Given the description of an element on the screen output the (x, y) to click on. 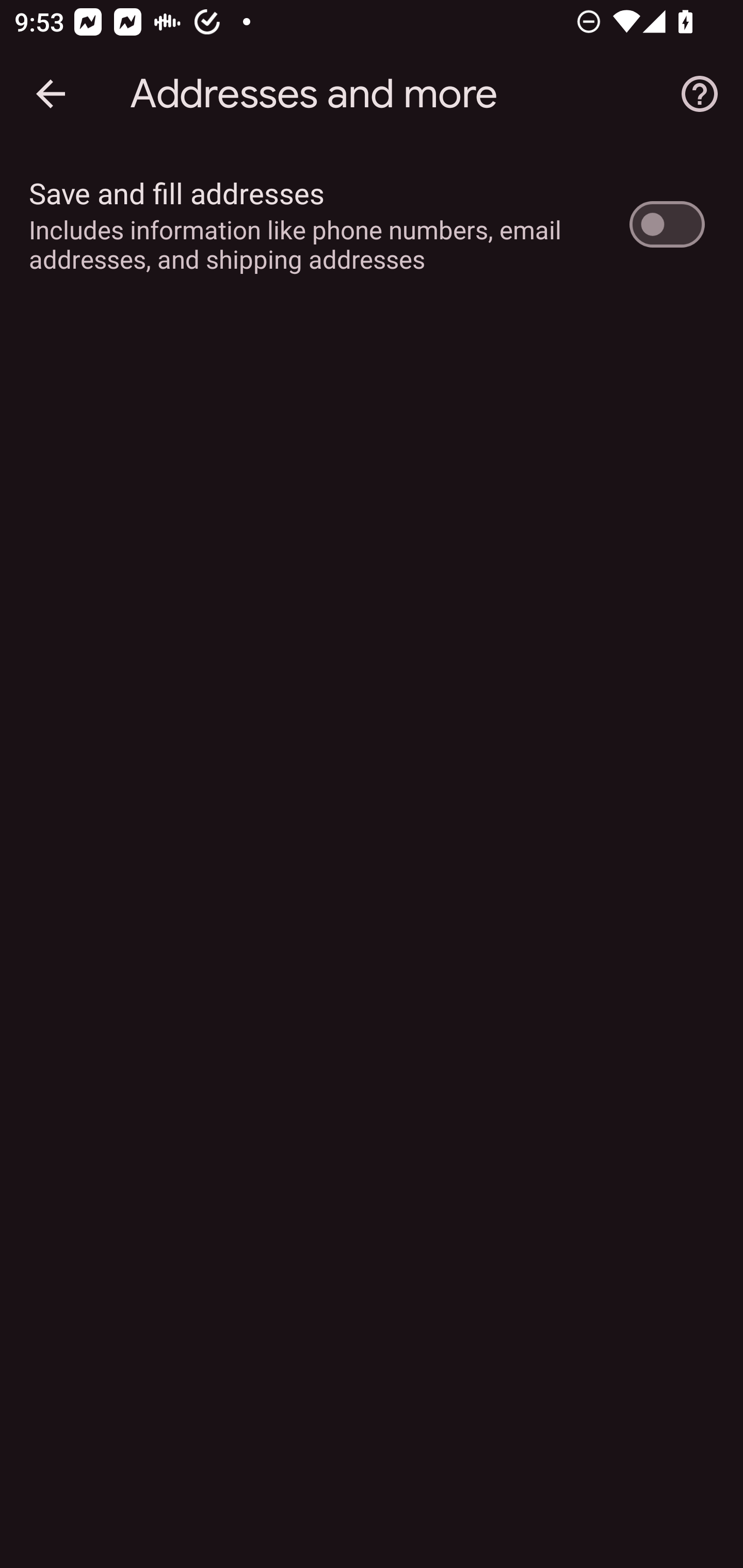
Navigate up (50, 93)
Help & feedback (699, 93)
